Given the description of an element on the screen output the (x, y) to click on. 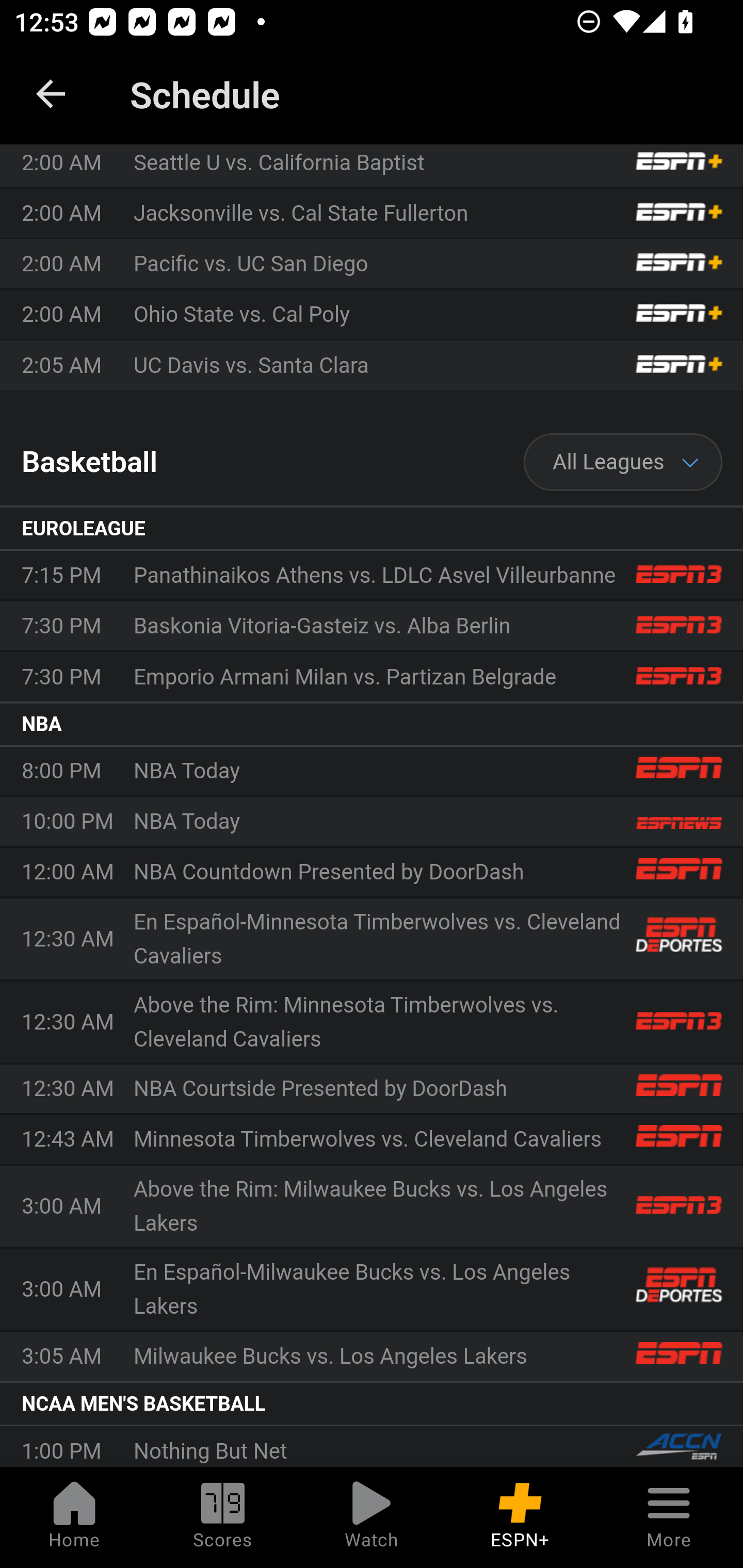
back.button (50, 93)
All Leagues (622, 462)
Home (74, 1517)
Scores (222, 1517)
Watch (371, 1517)
More (668, 1517)
